Given the description of an element on the screen output the (x, y) to click on. 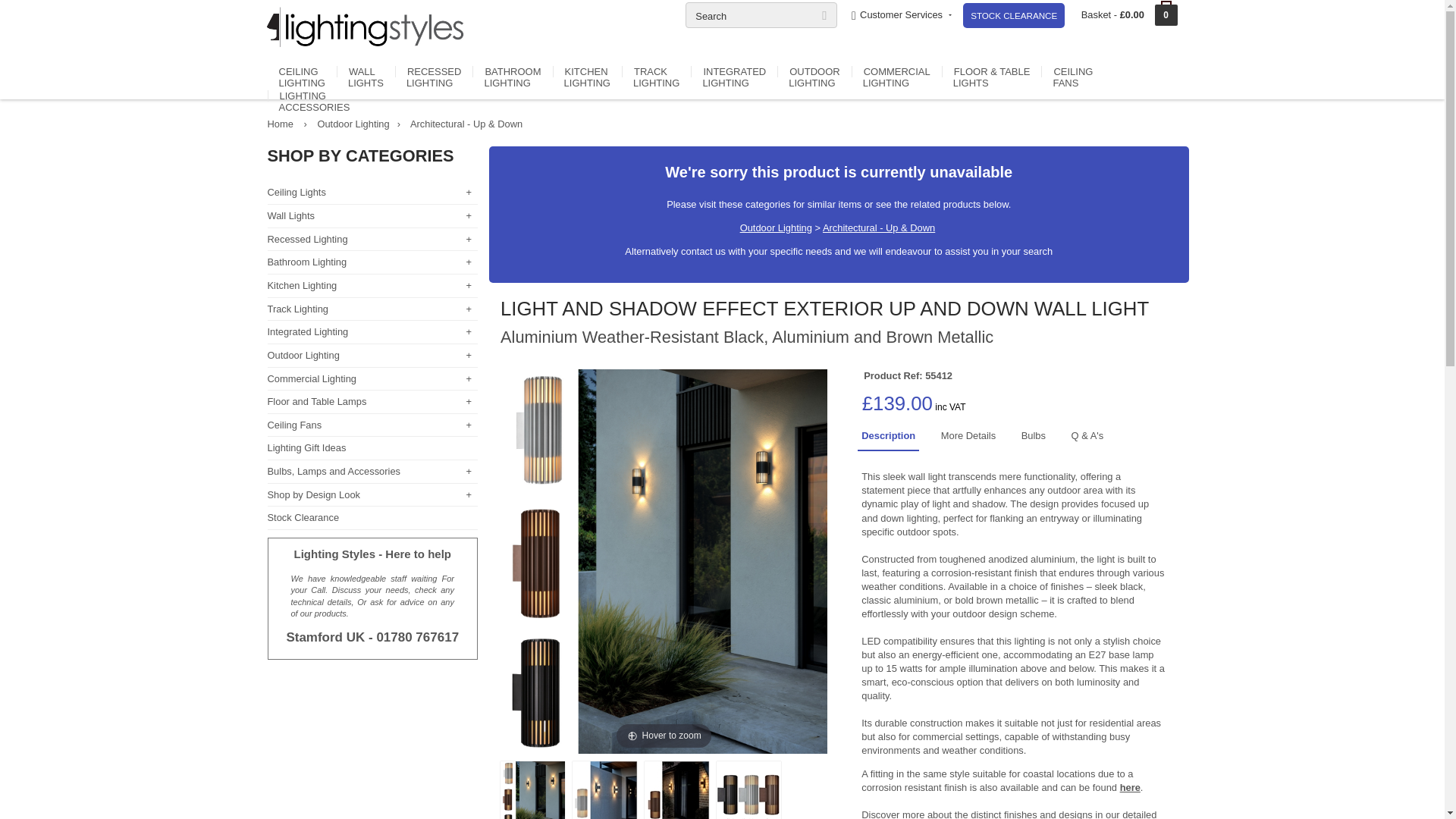
Search (761, 14)
Black Friday (1013, 15)
